Given the description of an element on the screen output the (x, y) to click on. 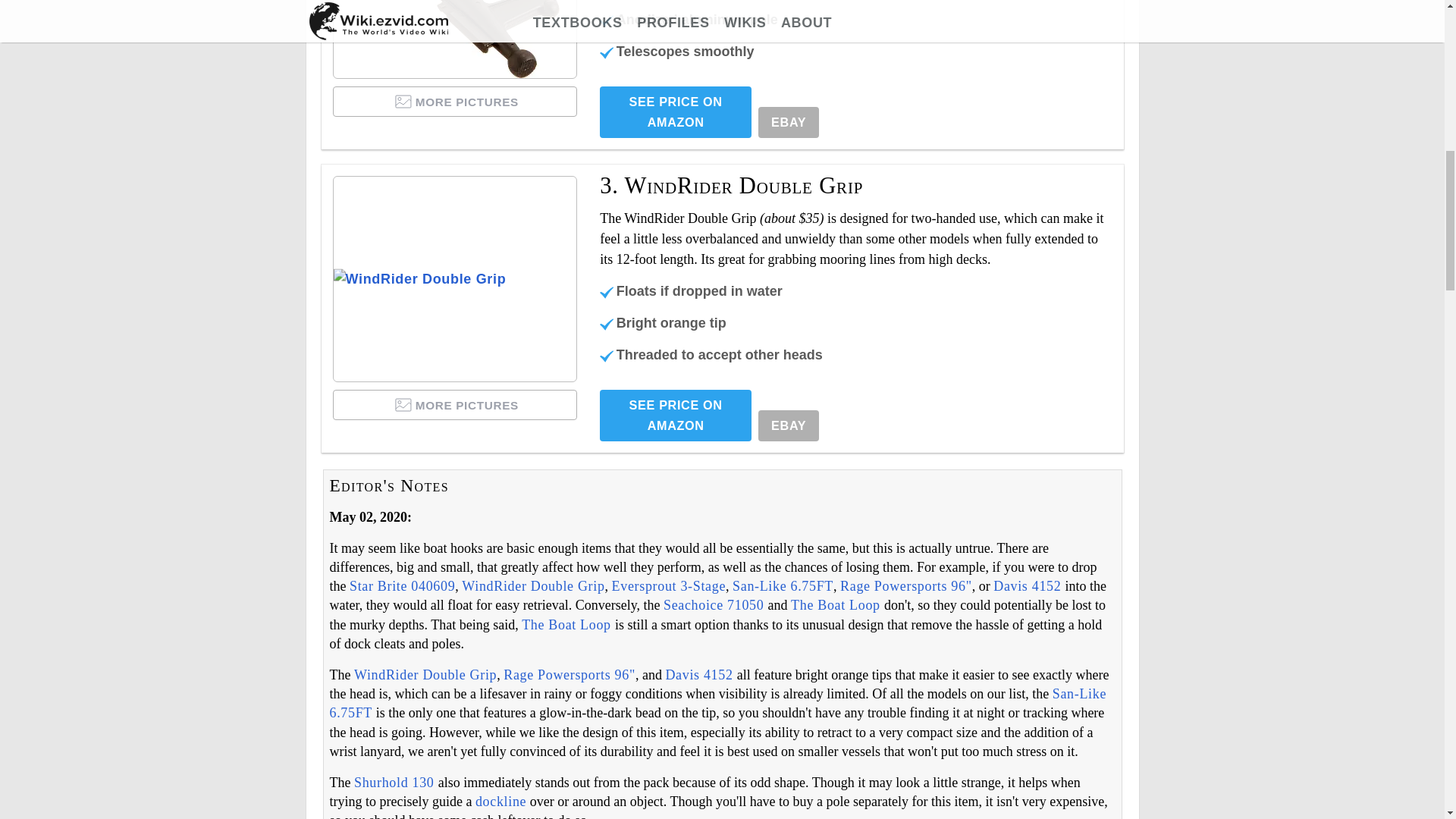
MORE PICTURES (454, 101)
EBAY (788, 122)
SEE PRICE ON AMAZON (675, 112)
